Given the description of an element on the screen output the (x, y) to click on. 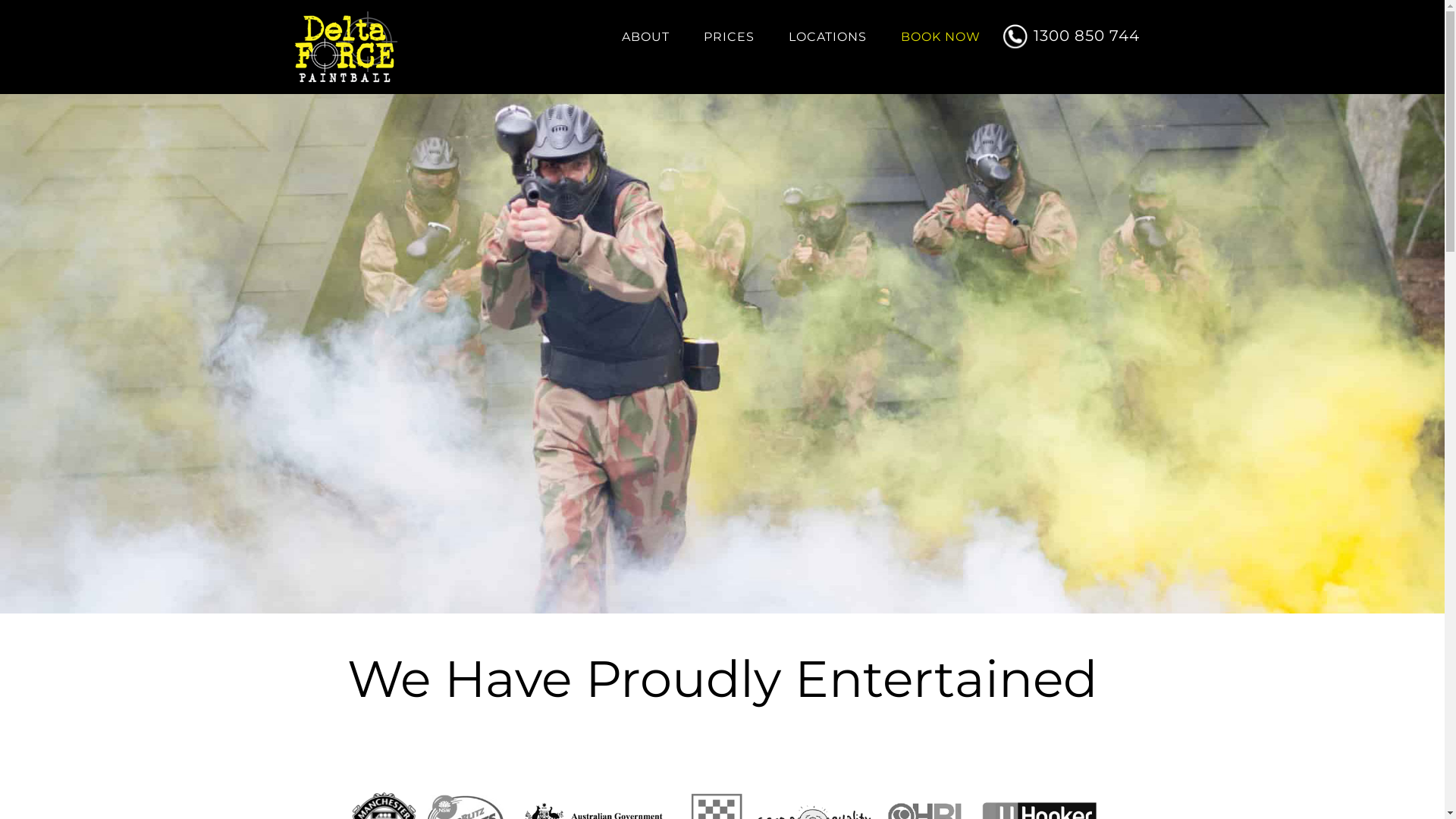
PRICES Element type: text (728, 36)
LOCATIONS Element type: text (827, 36)
ABOUT Element type: text (645, 36)
1300 850 744 Element type: text (1076, 24)
BOOK NOW Element type: text (940, 36)
DELTA FORCE PAINTBALL Element type: text (376, 49)
